Given the description of an element on the screen output the (x, y) to click on. 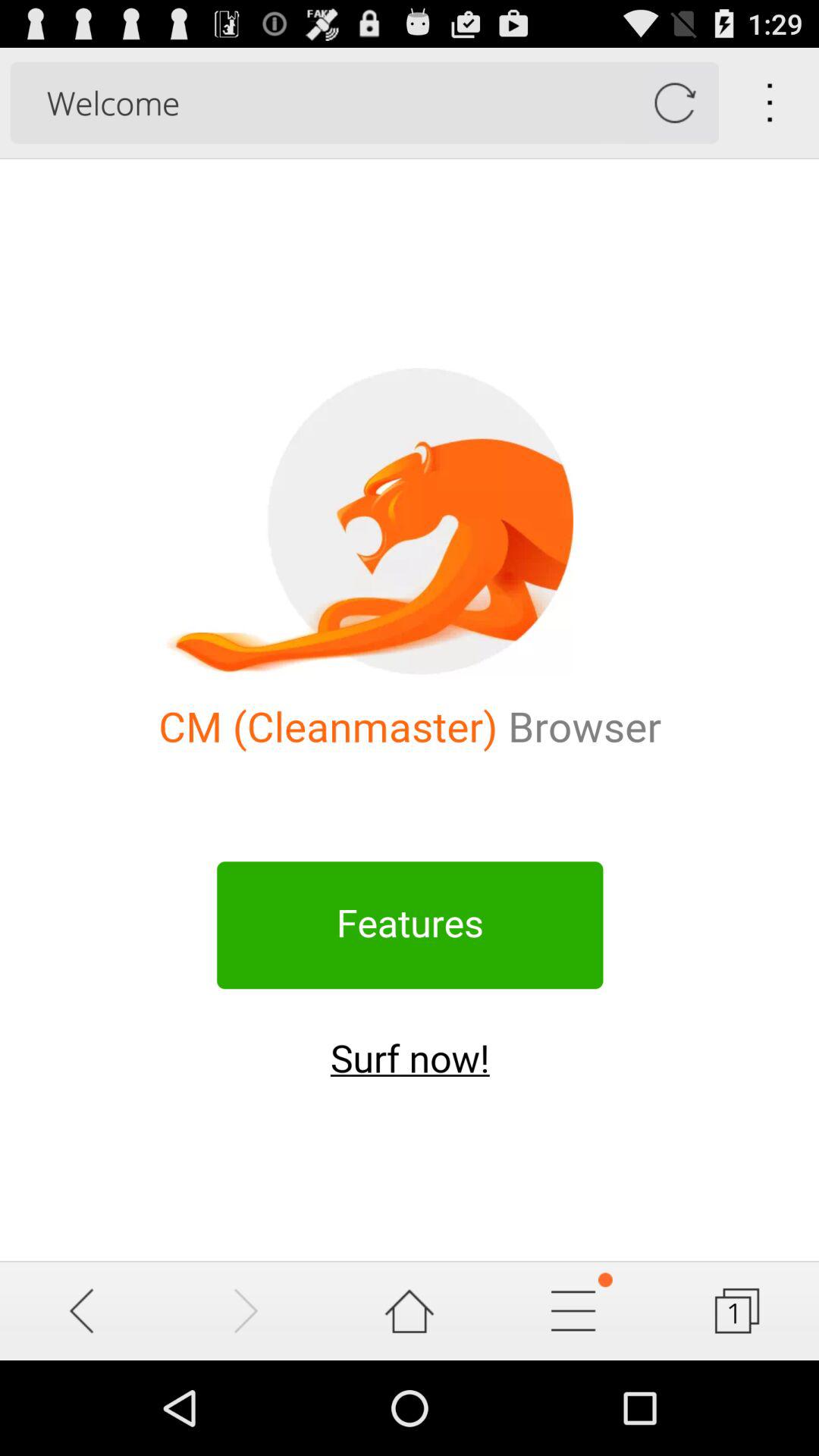
go to refresh (674, 102)
